Given the description of an element on the screen output the (x, y) to click on. 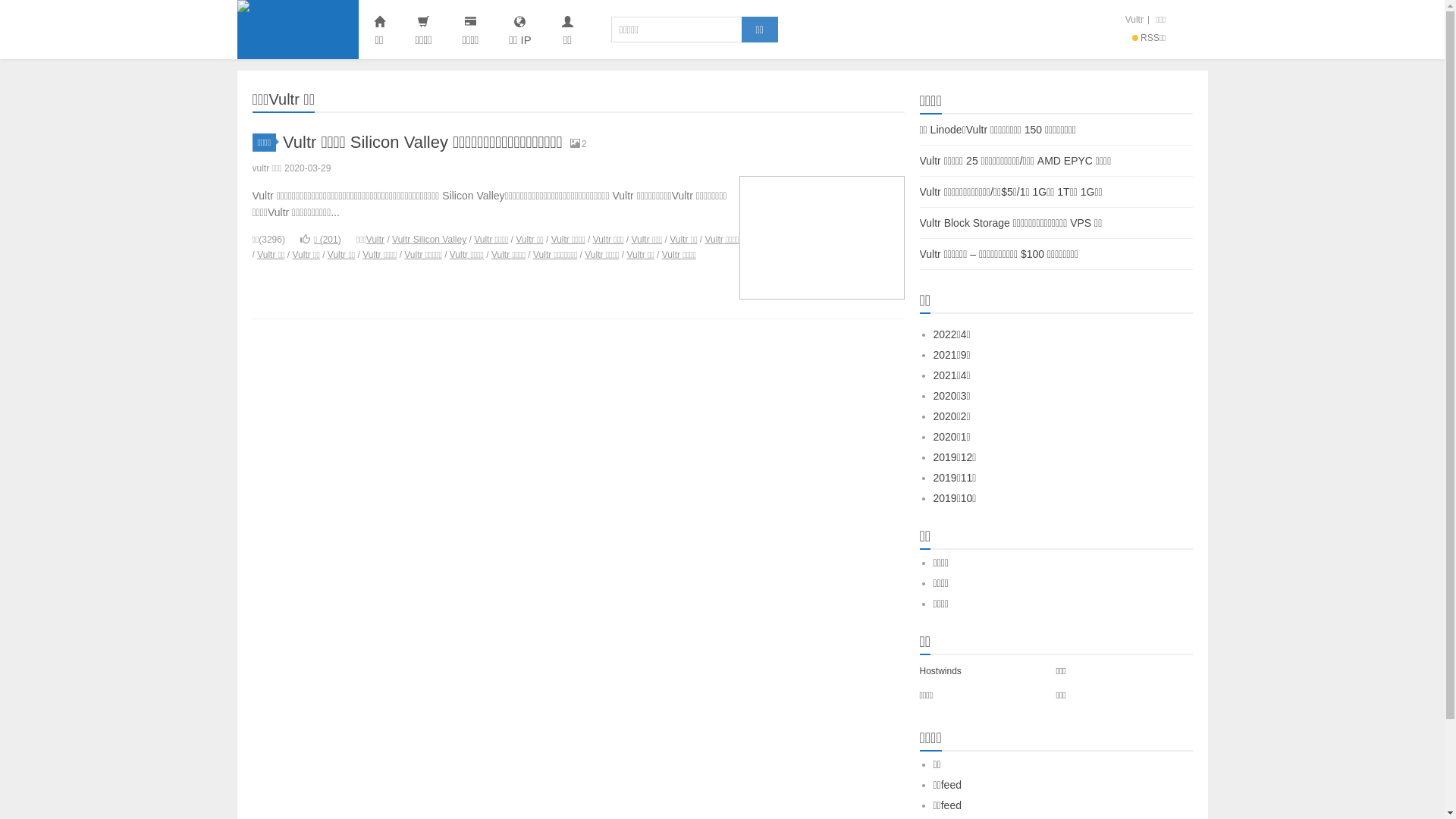
Vultr Element type: text (375, 239)
Vultr Element type: text (1134, 19)
Hostwinds Element type: text (939, 670)
Vultr Element type: text (296, 29)
Vultr Silicon Valley Element type: text (429, 239)
